Given the description of an element on the screen output the (x, y) to click on. 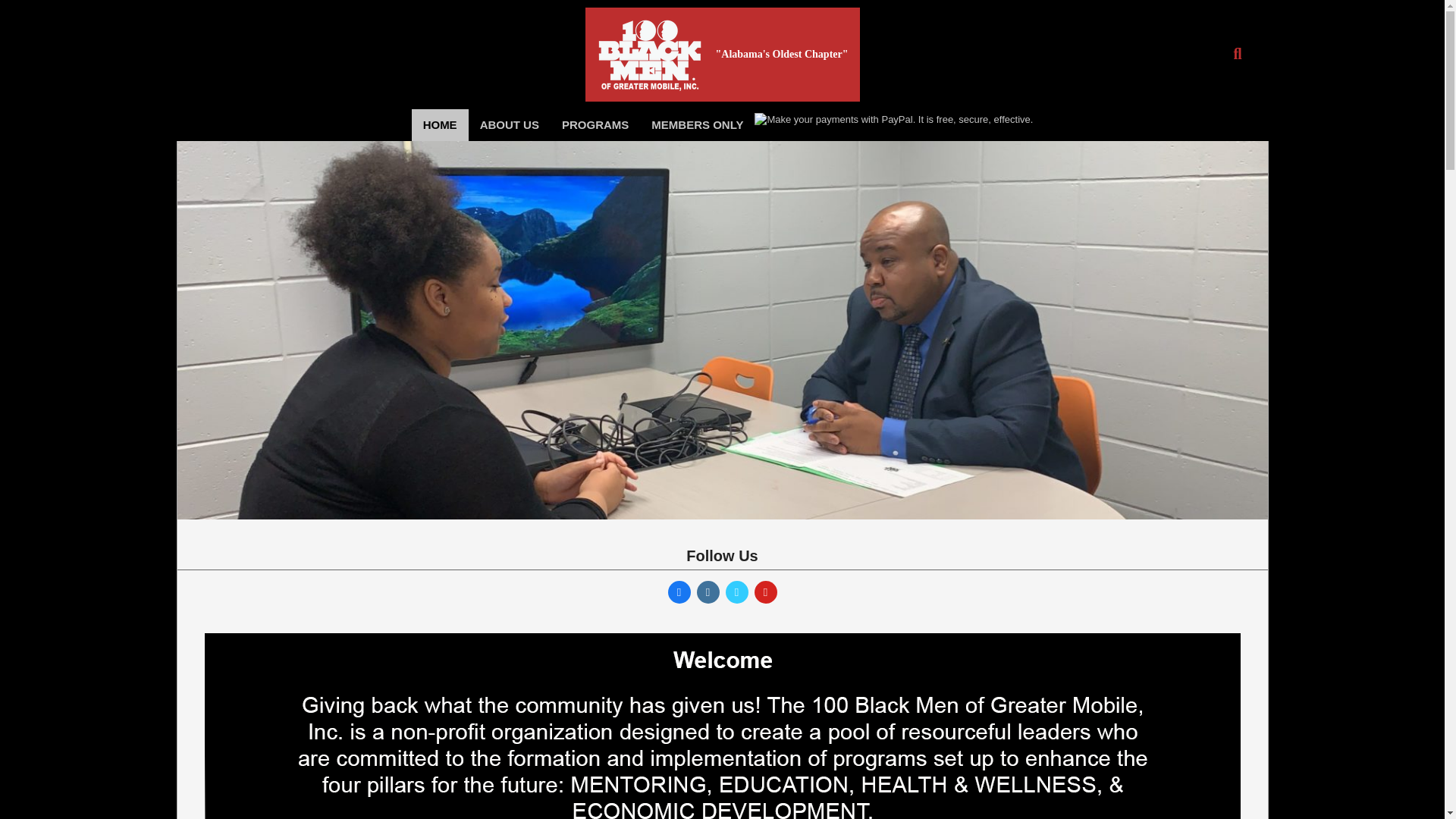
ABOUT US (509, 124)
MEMBERS ONLY (697, 124)
HOME (440, 124)
Search (26, 9)
PROGRAMS (595, 124)
"Alabama's Oldest Chapter" (782, 54)
